Given the description of an element on the screen output the (x, y) to click on. 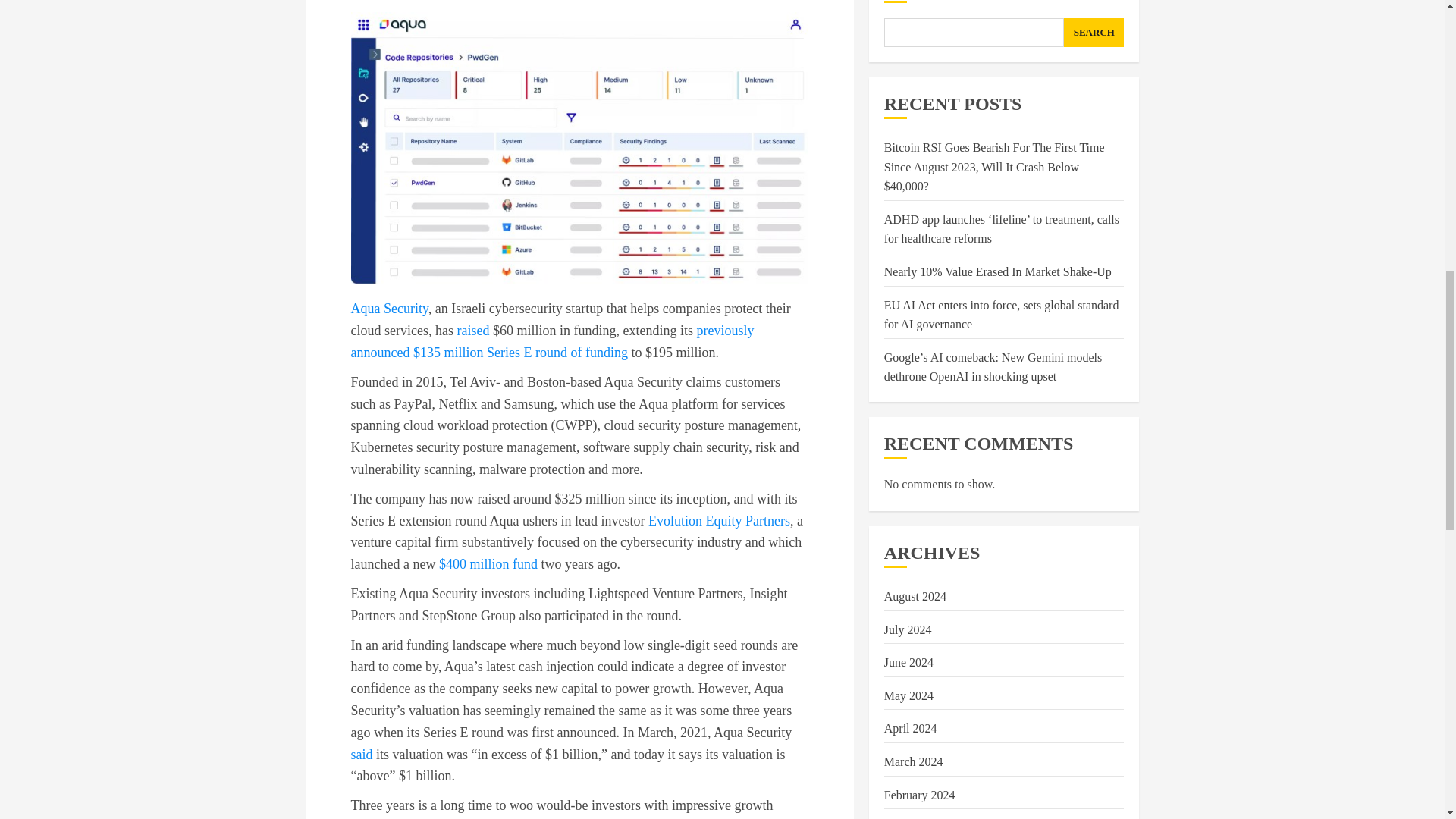
Evolution Equity Partners (718, 520)
raised (473, 330)
Aqua Security (389, 308)
said (361, 754)
